Given the description of an element on the screen output the (x, y) to click on. 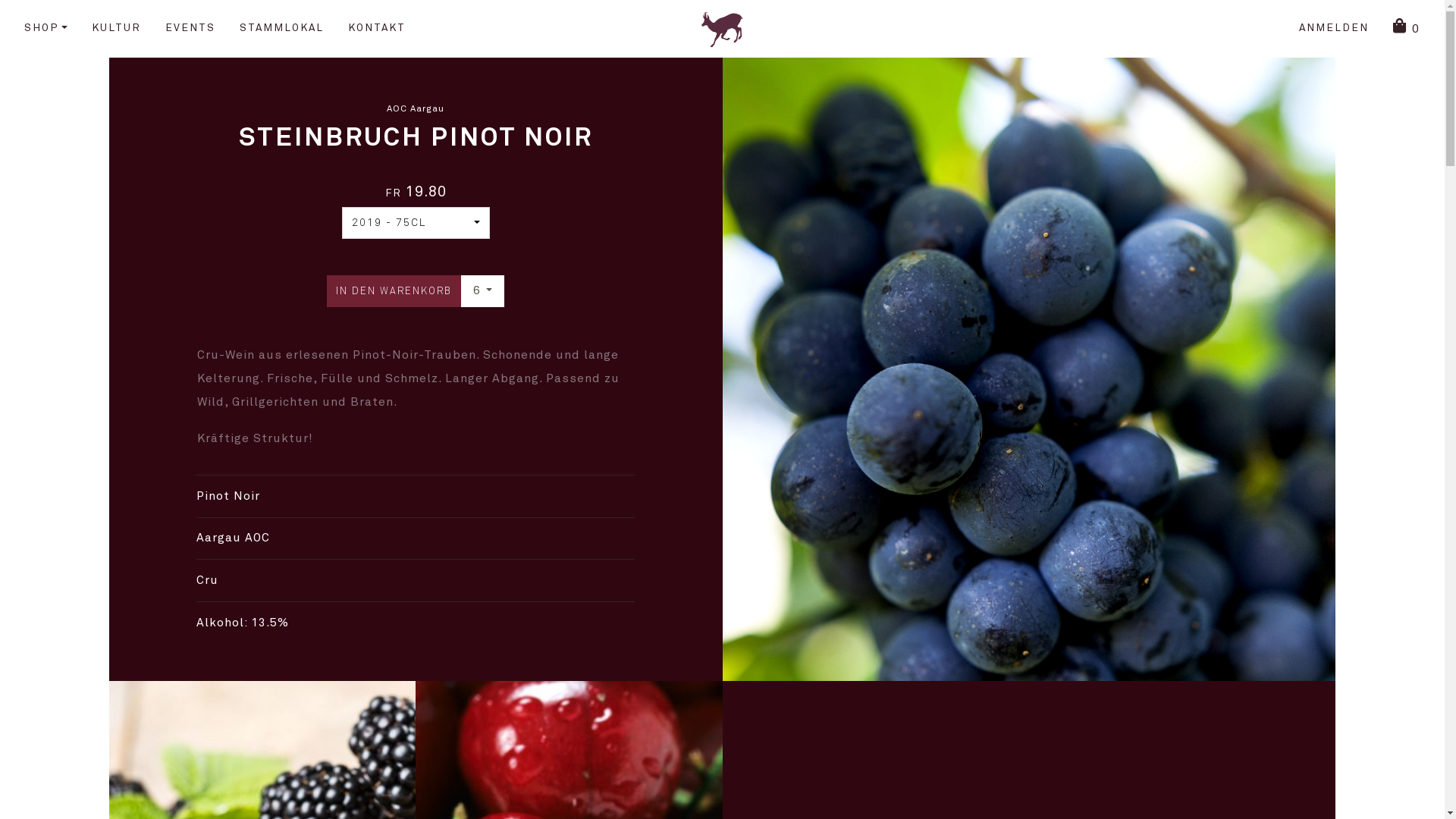
KULTUR Element type: text (116, 28)
EVENTS Element type: text (190, 28)
SHOP Element type: text (45, 28)
2019 - 75CL Element type: text (415, 222)
 In den Warenkorb  Element type: text (393, 291)
ANMELDEN Element type: text (1333, 28)
KONTAKT Element type: text (376, 28)
STAMMLOKAL Element type: text (281, 28)
6 Element type: text (482, 291)
